Given the description of an element on the screen output the (x, y) to click on. 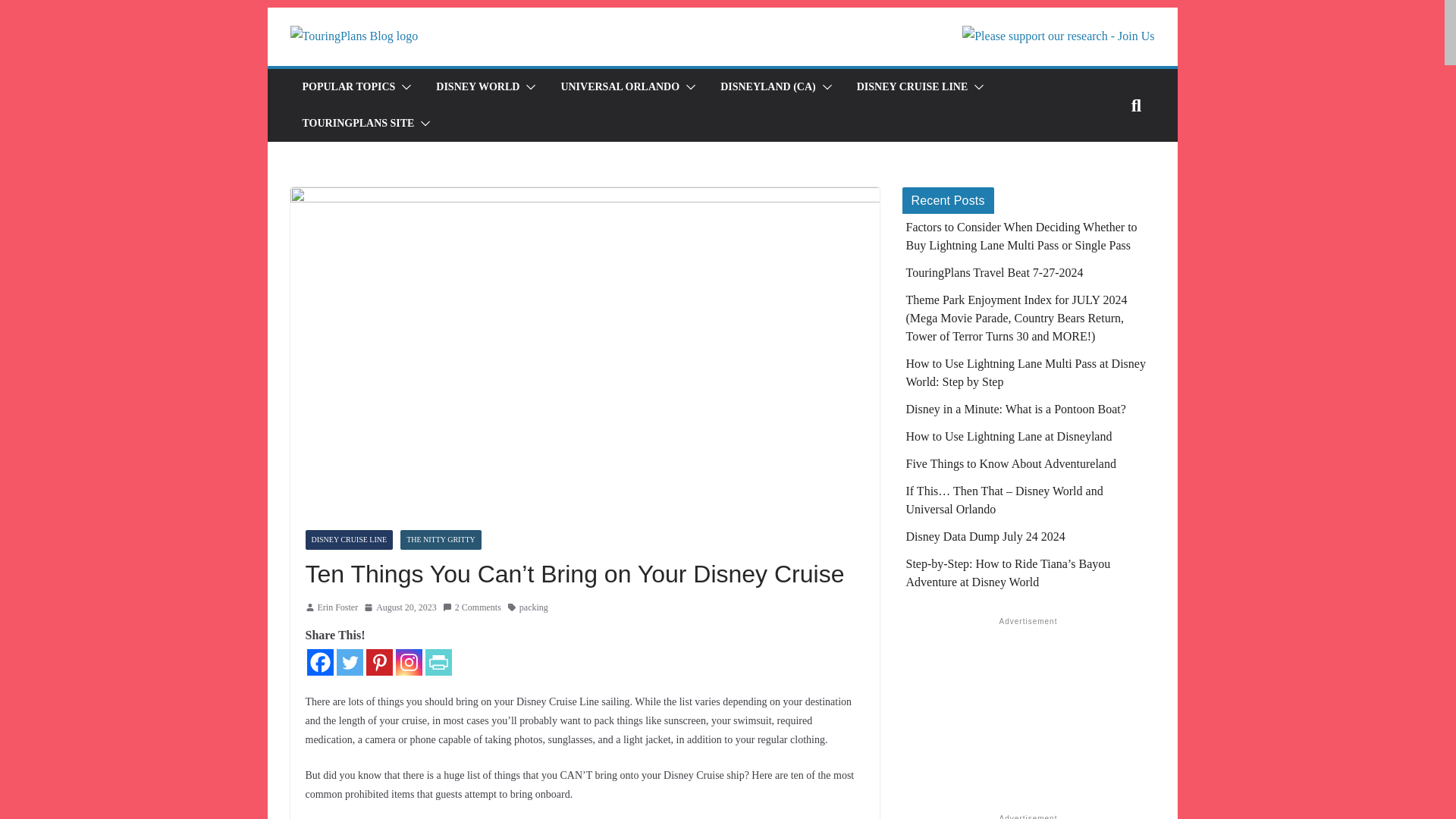
PrintFriendly (438, 662)
Erin Foster (337, 607)
DISNEY CRUISE LINE (912, 86)
10:00 am (400, 607)
Facebook (319, 662)
POPULAR TOPICS (347, 86)
UNIVERSAL ORLANDO (619, 86)
Instagram (409, 662)
Pinterest (378, 662)
DISNEY WORLD (477, 86)
TOURINGPLANS SITE (357, 123)
Twitter (349, 662)
